Given the description of an element on the screen output the (x, y) to click on. 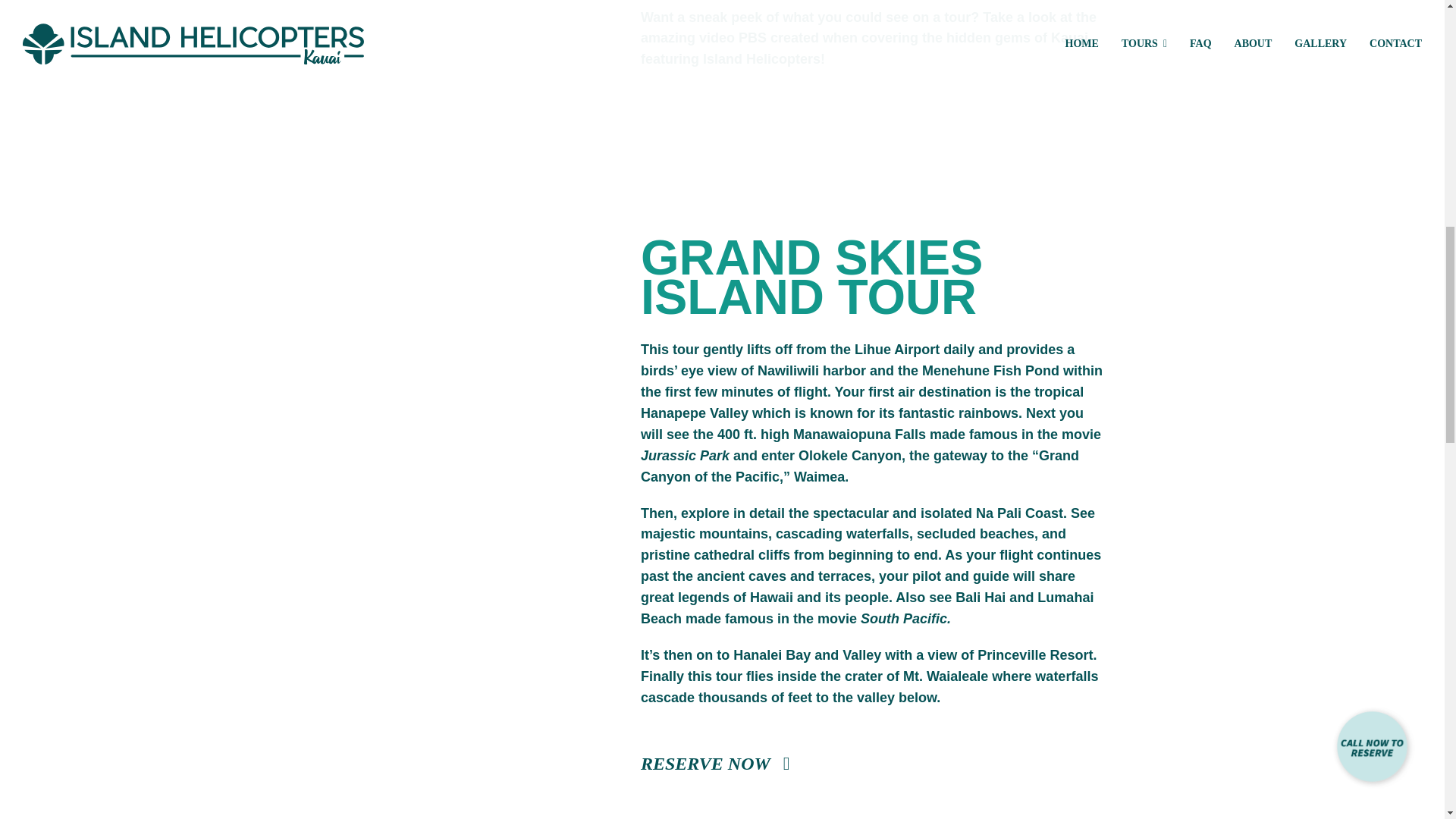
Vimeo video player 1 (418, 62)
RESERVE NOW (715, 763)
YouTube video player 1 (418, 347)
